Given the description of an element on the screen output the (x, y) to click on. 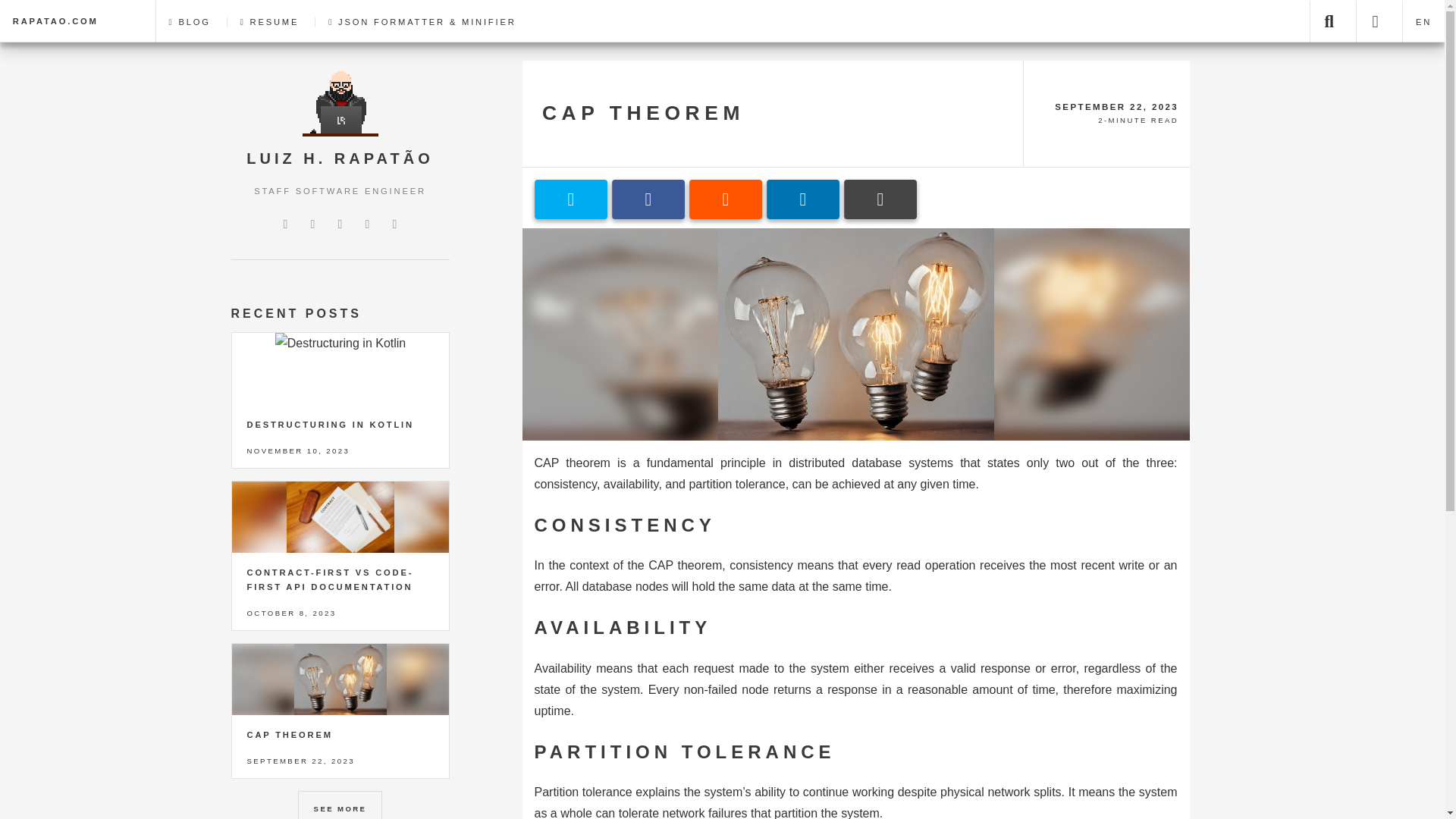
RAPATAO.COM (66, 20)
BLOG (189, 21)
CAP THEOREM (290, 734)
CAP THEOREM (642, 112)
RESUME (269, 21)
DESTRUCTURING IN KOTLIN (330, 424)
CONTRACT-FIRST VS CODE-FIRST API DOCUMENTATION (330, 579)
